Given the description of an element on the screen output the (x, y) to click on. 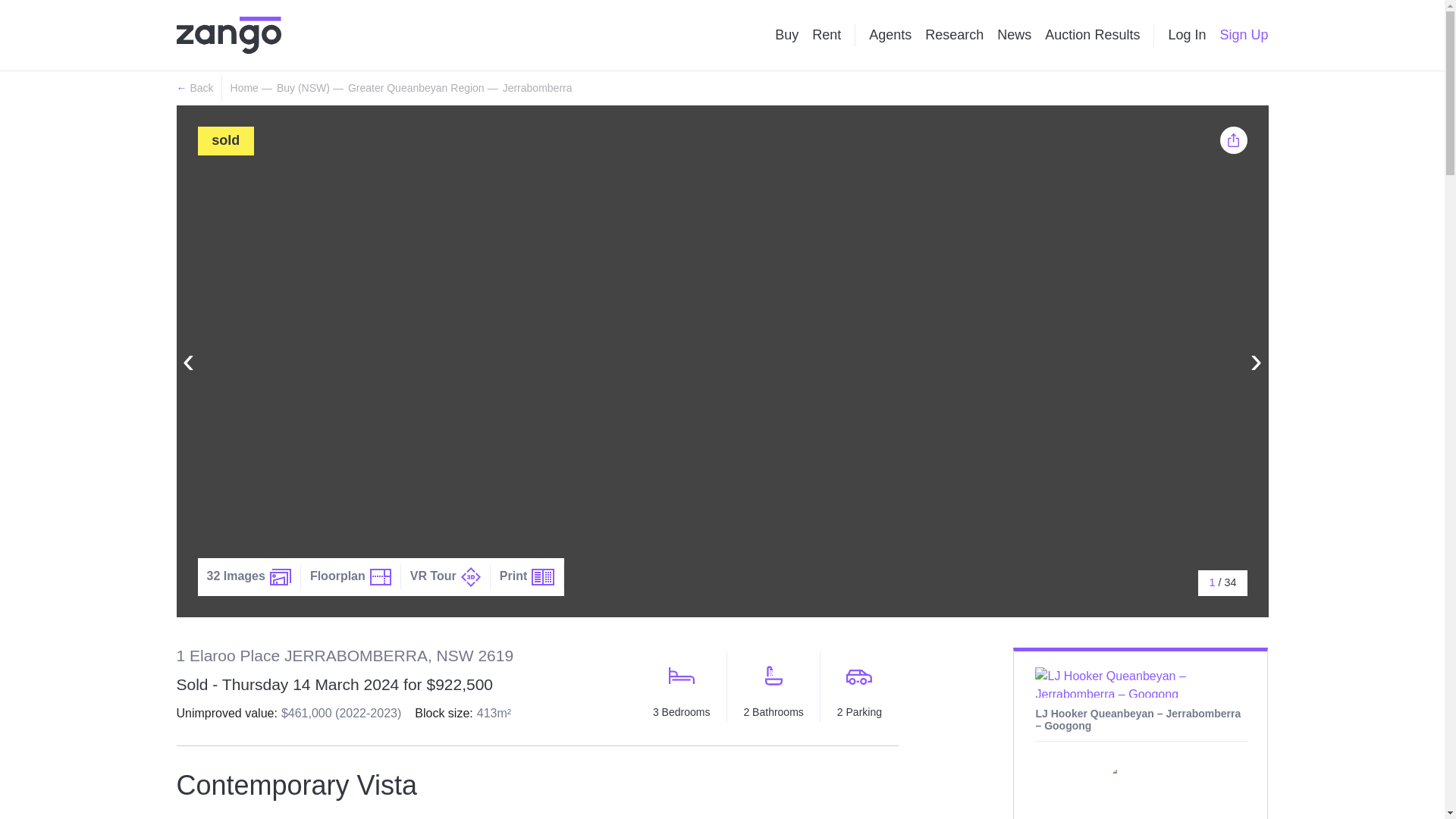
PrintProperty brochure icon (527, 576)
Greater Queanbeyan Region (415, 87)
Virtual Tour (470, 577)
Agents (890, 35)
Zango Logo (228, 35)
Jerrabomberra (537, 87)
FloorplanProperty Floorplan Icon (351, 576)
Research (954, 35)
Bed Icon (681, 675)
Zango Logo (228, 35)
